Given the description of an element on the screen output the (x, y) to click on. 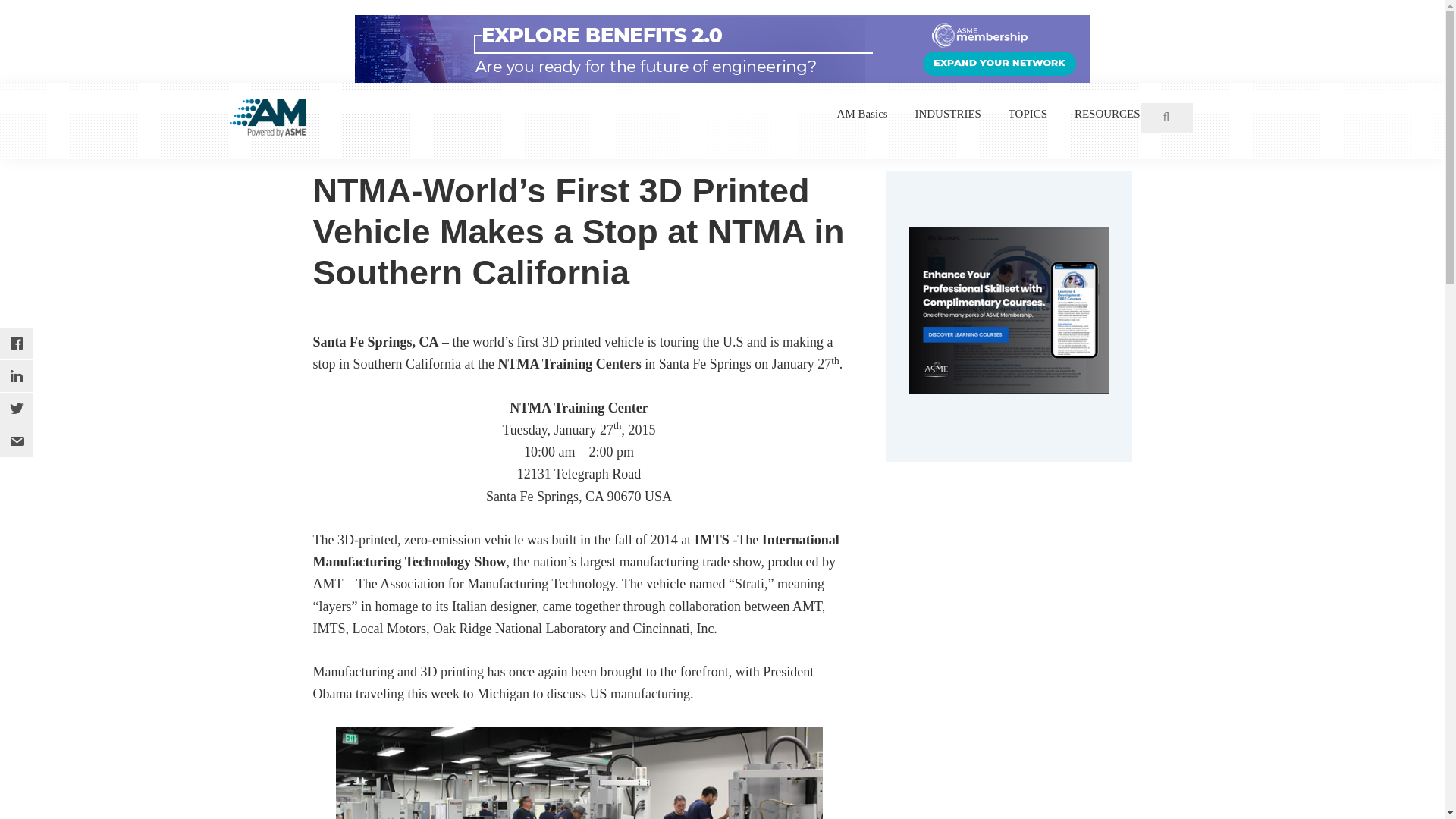
INDUSTRIES (947, 113)
RESOURCES (1107, 113)
AM Basics (862, 113)
TOPICS (1027, 113)
